Given the description of an element on the screen output the (x, y) to click on. 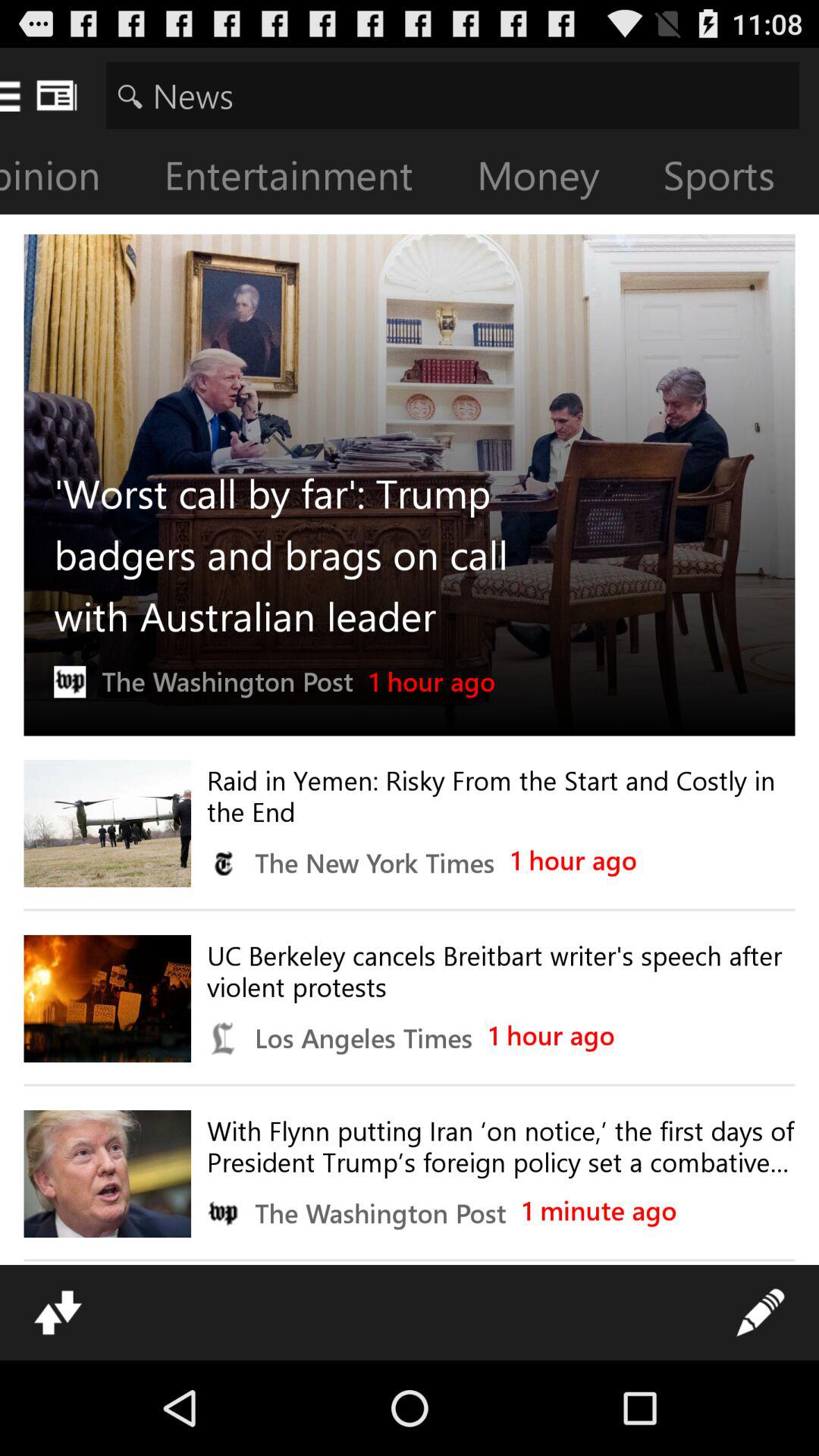
open the opinion (72, 178)
